Given the description of an element on the screen output the (x, y) to click on. 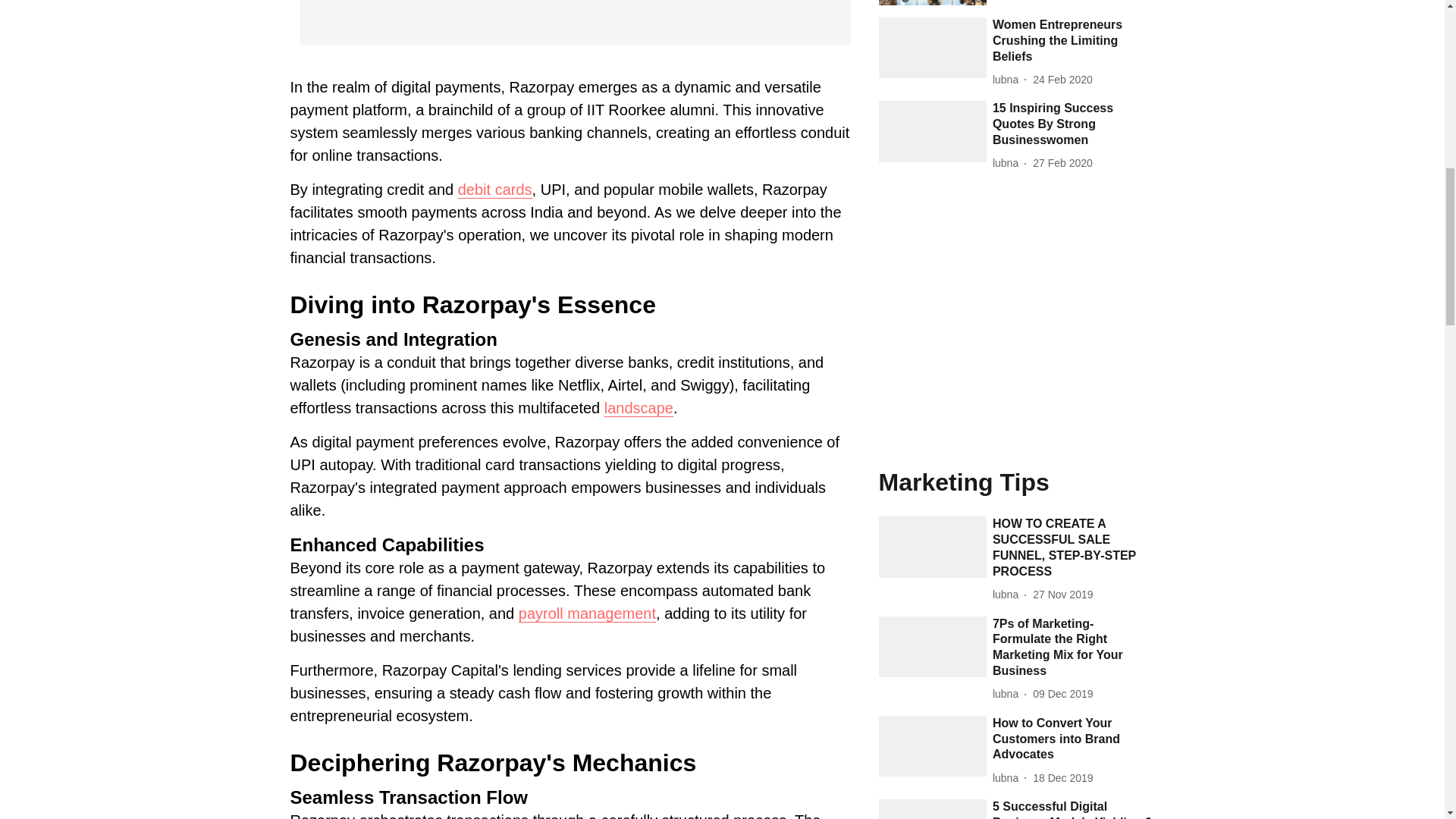
2019-12-09 06:56 (1062, 693)
2020-02-27 08:55 (1062, 163)
2019-12-18 10:35 (1062, 778)
2019-11-27 06:05 (1062, 594)
3rd party ad content (1015, 321)
2020-02-24 12:07 (1062, 79)
